Given the description of an element on the screen output the (x, y) to click on. 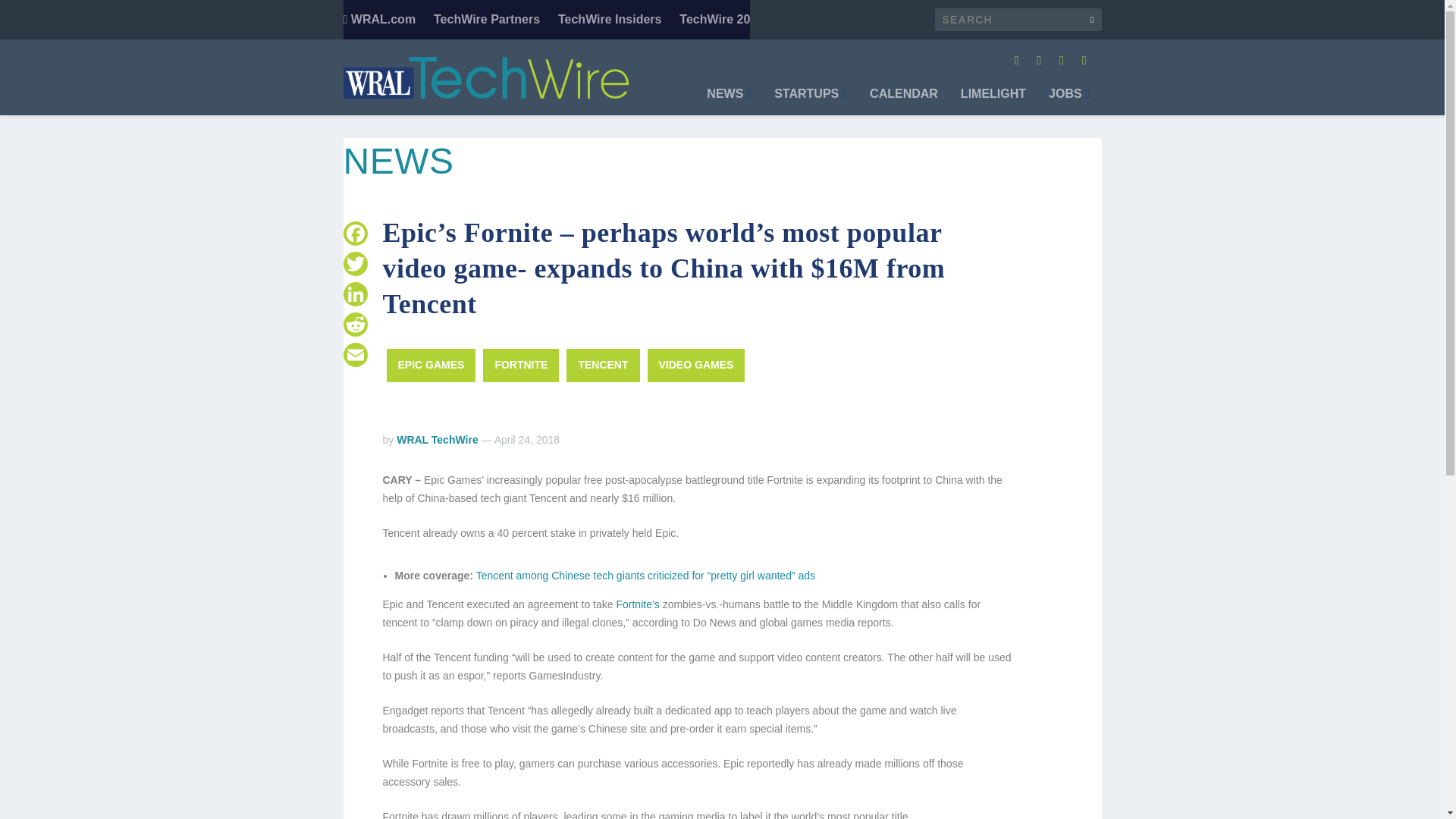
Facebook (354, 233)
Twitter (354, 263)
NEWS (728, 101)
LinkedIn (354, 294)
STARTUPS (810, 101)
LIMELIGHT (993, 101)
Email (354, 354)
TechWire Partners (486, 19)
TechWire Insiders (609, 19)
TechWire 20 (714, 19)
Reddit (354, 324)
JOBS (1068, 101)
WRAL.com (378, 19)
Search for: (1017, 19)
CALENDAR (903, 101)
